Given the description of an element on the screen output the (x, y) to click on. 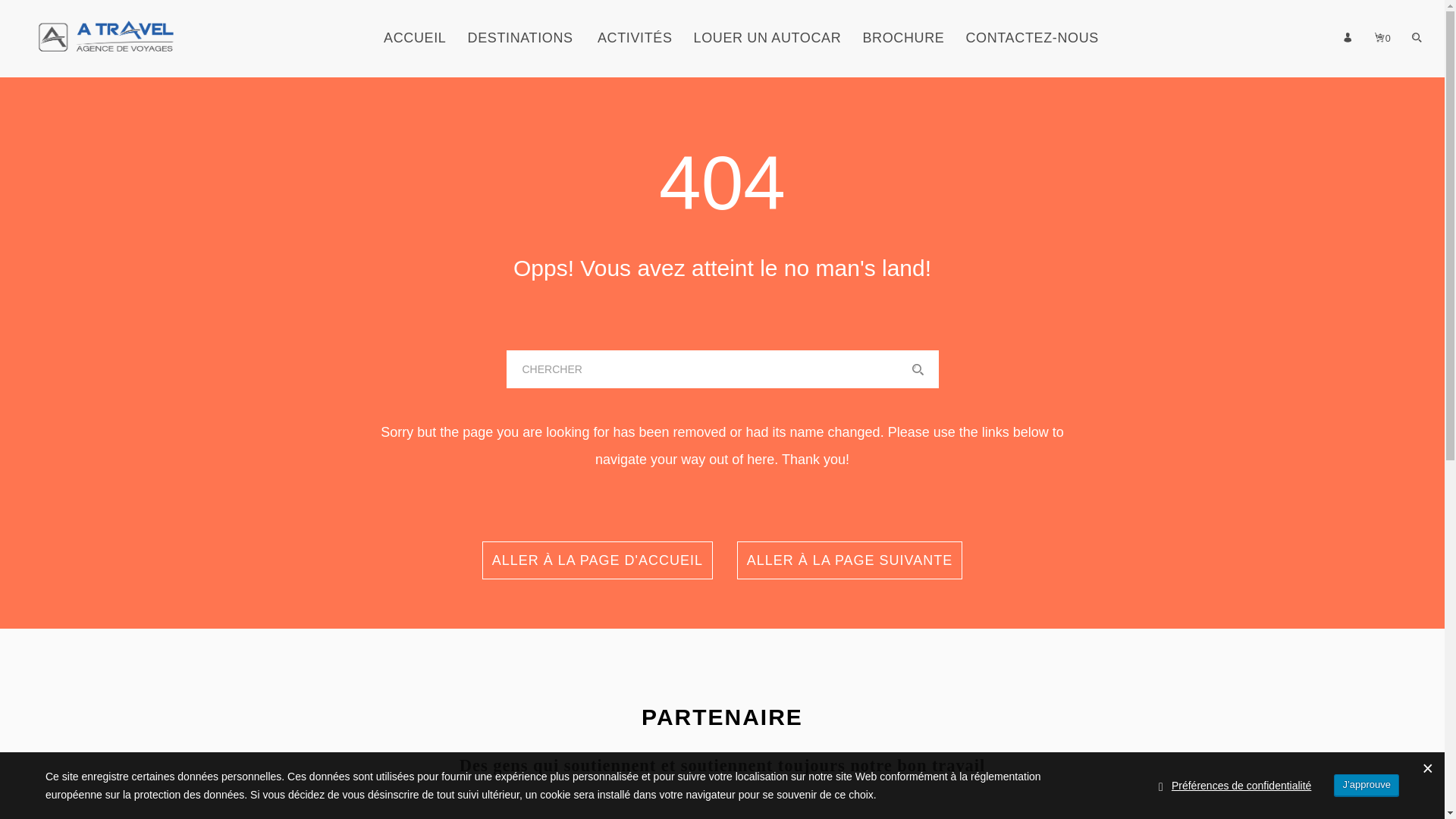
LOUER UN AUTOCAR Element type: text (767, 53)
ACCUEIL Element type: text (414, 53)
0 Element type: text (1382, 53)
BROCHURE Element type: text (903, 53)
DESTINATIONS Element type: text (519, 53)
CONTACTEZ-NOUS Element type: text (1031, 53)
